Given the description of an element on the screen output the (x, y) to click on. 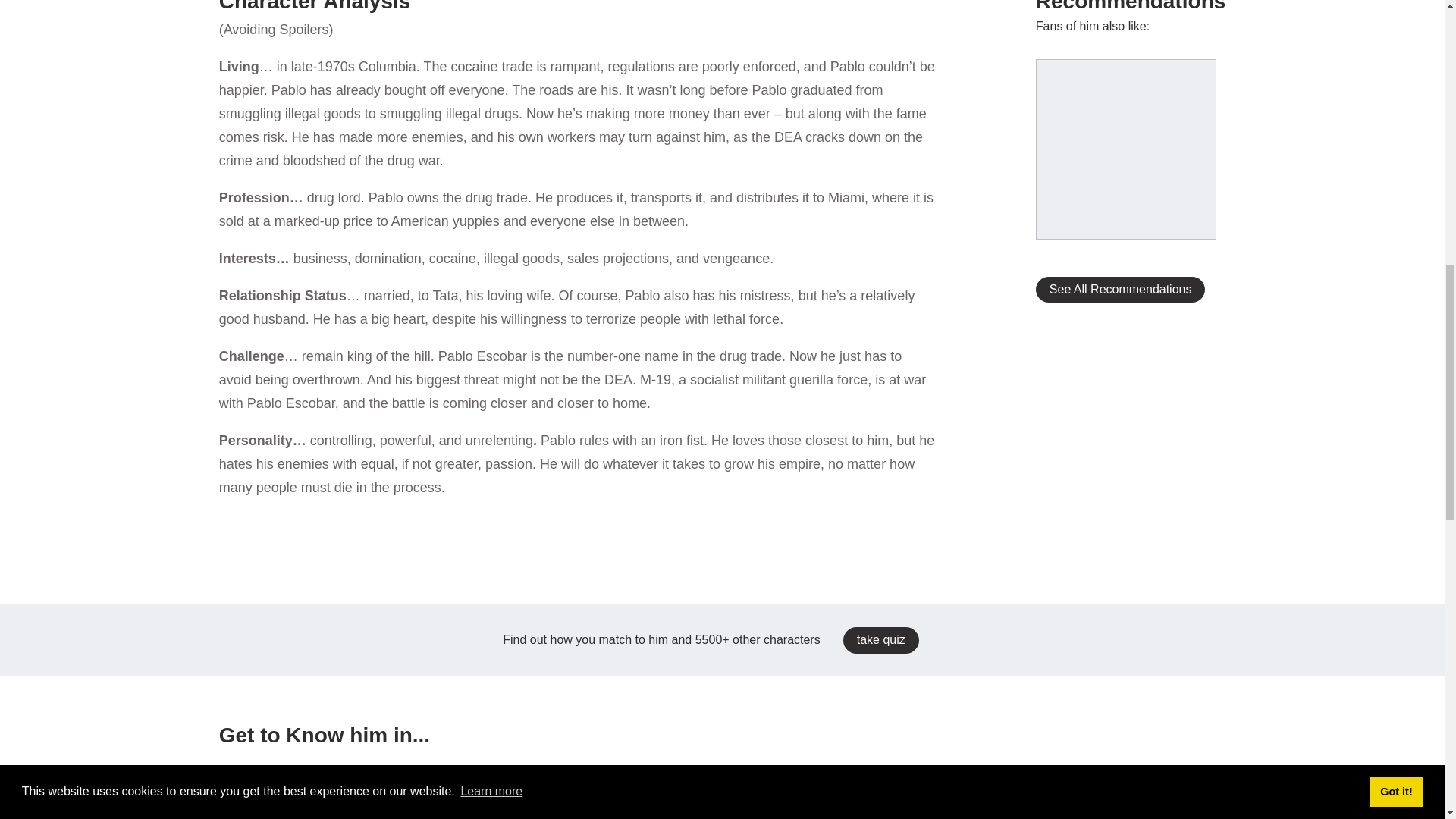
take quiz (880, 639)
Learn More about CharacTour (722, 278)
GET STARTED (722, 245)
See All Recommendations (1120, 289)
sign in (505, 94)
